Given the description of an element on the screen output the (x, y) to click on. 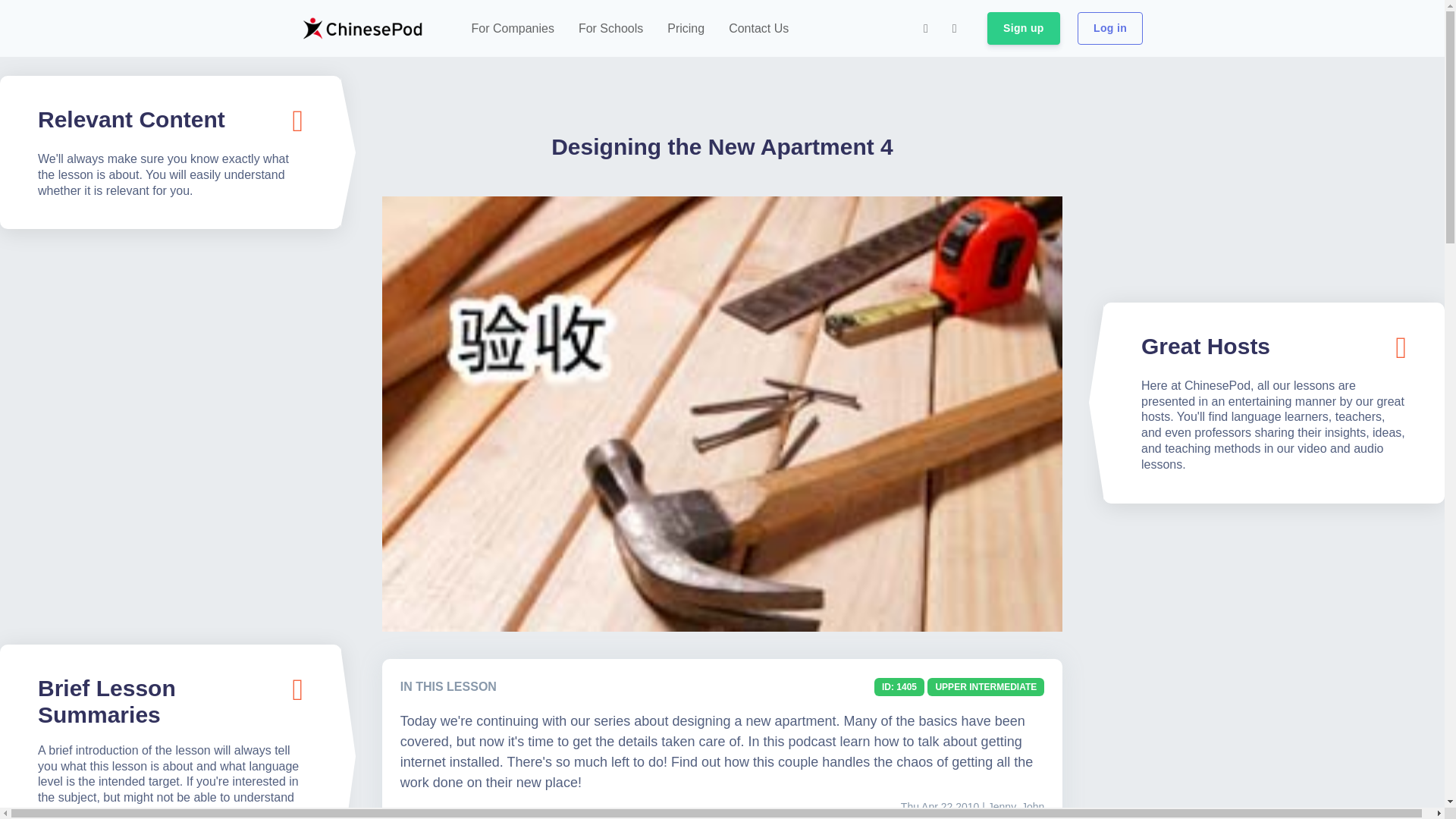
Subscribe on Youtube (954, 28)
Log in (1109, 28)
Sign up (1023, 28)
Pricing (685, 28)
For Schools (610, 28)
For Companies (513, 28)
Follow us on Instagram (925, 28)
Contact Us (758, 28)
